Given the description of an element on the screen output the (x, y) to click on. 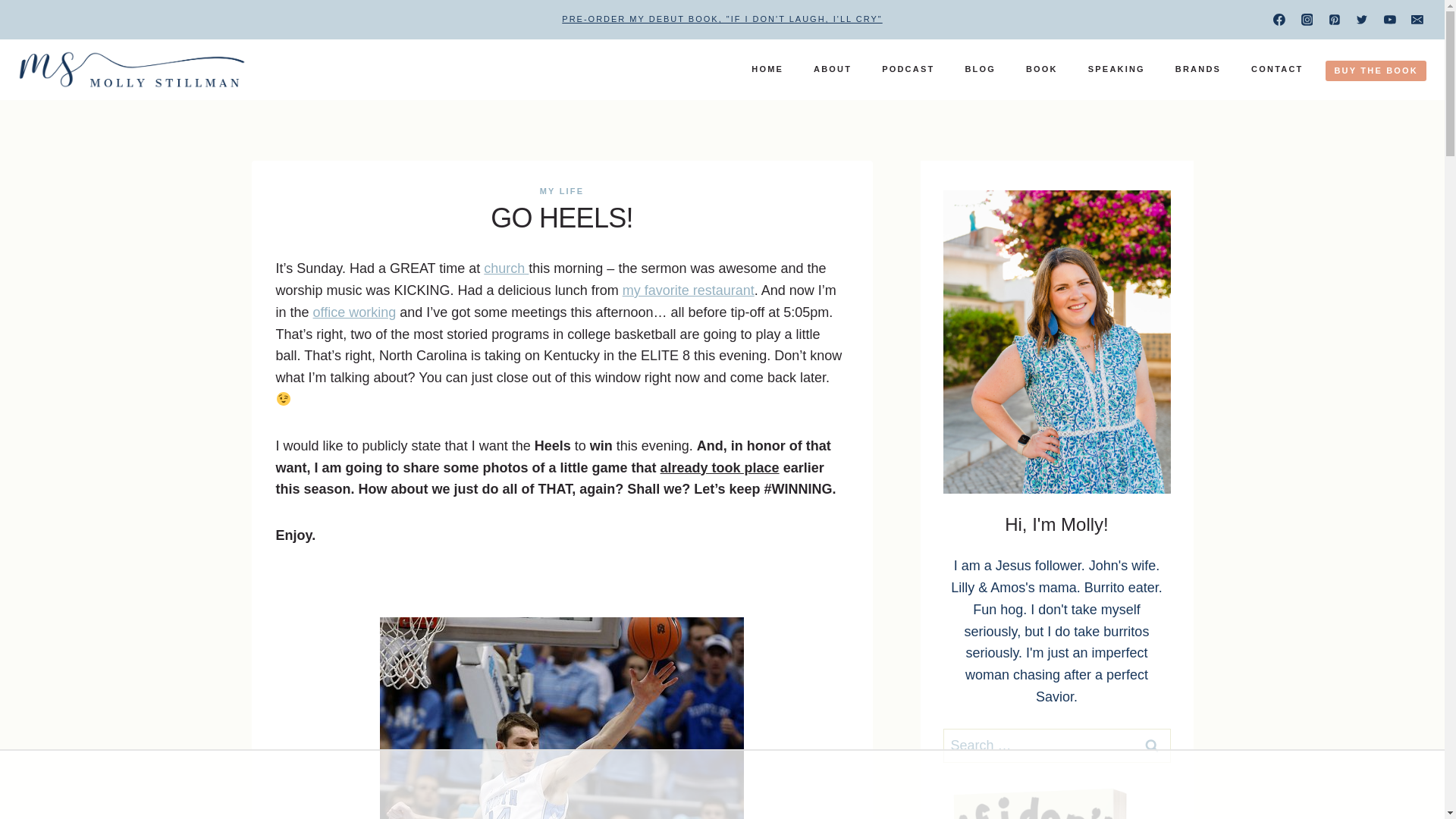
church (505, 268)
PRE-ORDER MY DEBUT BOOK, "IF I DON'T LAUGH, I'LL CRY" (722, 18)
BUY THE BOOK (1375, 70)
CONTACT (1276, 69)
zellerkentucky (562, 718)
BOOK (1041, 69)
ABOUT (831, 69)
HOME (766, 69)
SPEAKING (1116, 69)
Search (1151, 745)
MY LIFE (562, 190)
PODCAST (907, 69)
office working (354, 312)
BRANDS (1198, 69)
